Given the description of an element on the screen output the (x, y) to click on. 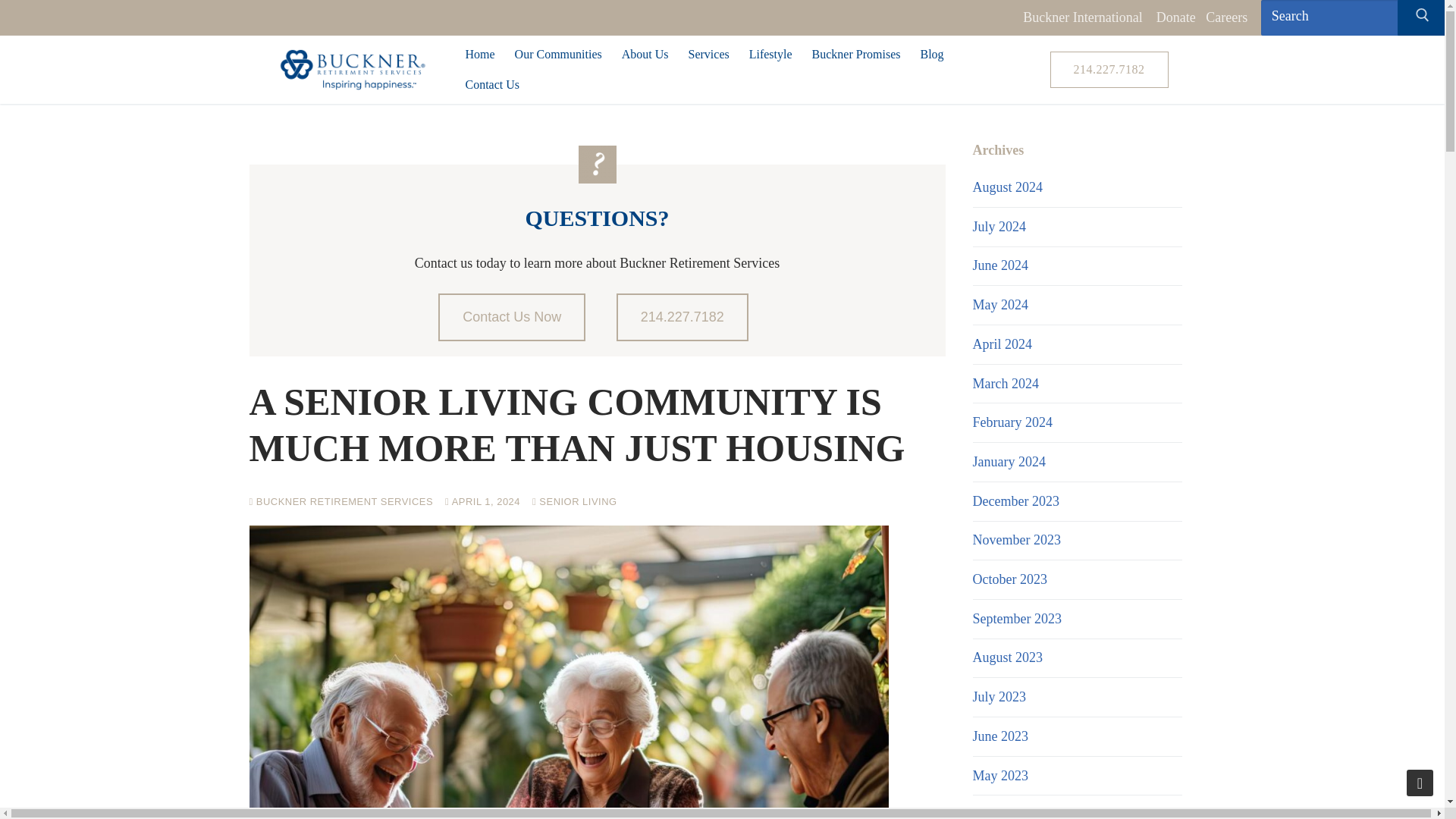
Our Communities (558, 54)
214.227.7182 (1108, 69)
Lifestyle (770, 54)
Careers (1226, 17)
Search for: (1344, 16)
Buckner International (1082, 17)
buckner-retirement-services-question-icon (596, 164)
Contact Us (491, 84)
Donate (1175, 17)
Blog (931, 54)
